Given the description of an element on the screen output the (x, y) to click on. 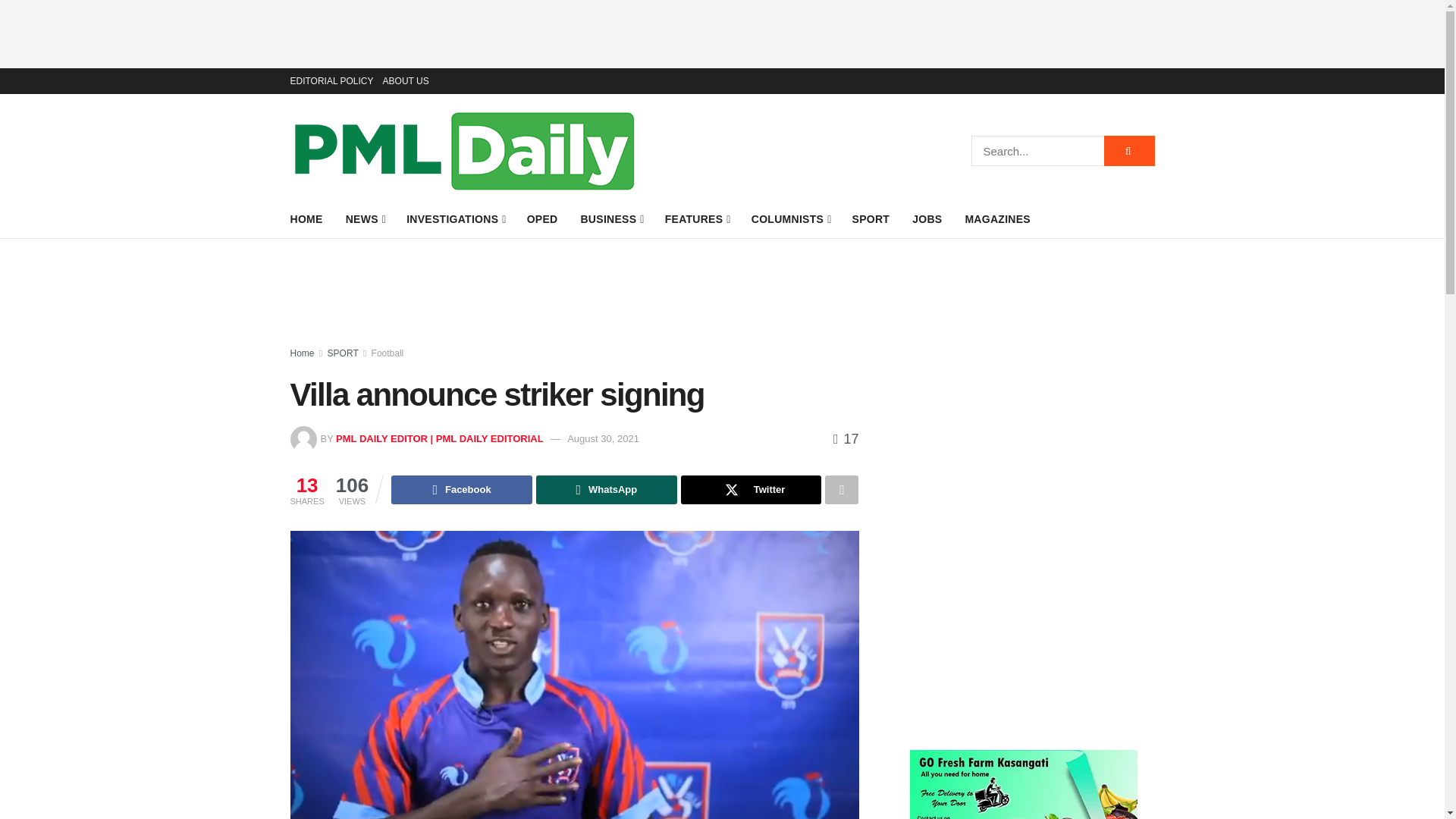
INVESTIGATIONS (454, 219)
MAGAZINES (996, 219)
OPED (542, 219)
NEWS (365, 219)
EDITORIAL POLICY (330, 80)
HOME (305, 219)
COLUMNISTS (790, 219)
FEATURES (697, 219)
SPORT (870, 219)
JOBS (927, 219)
